Given the description of an element on the screen output the (x, y) to click on. 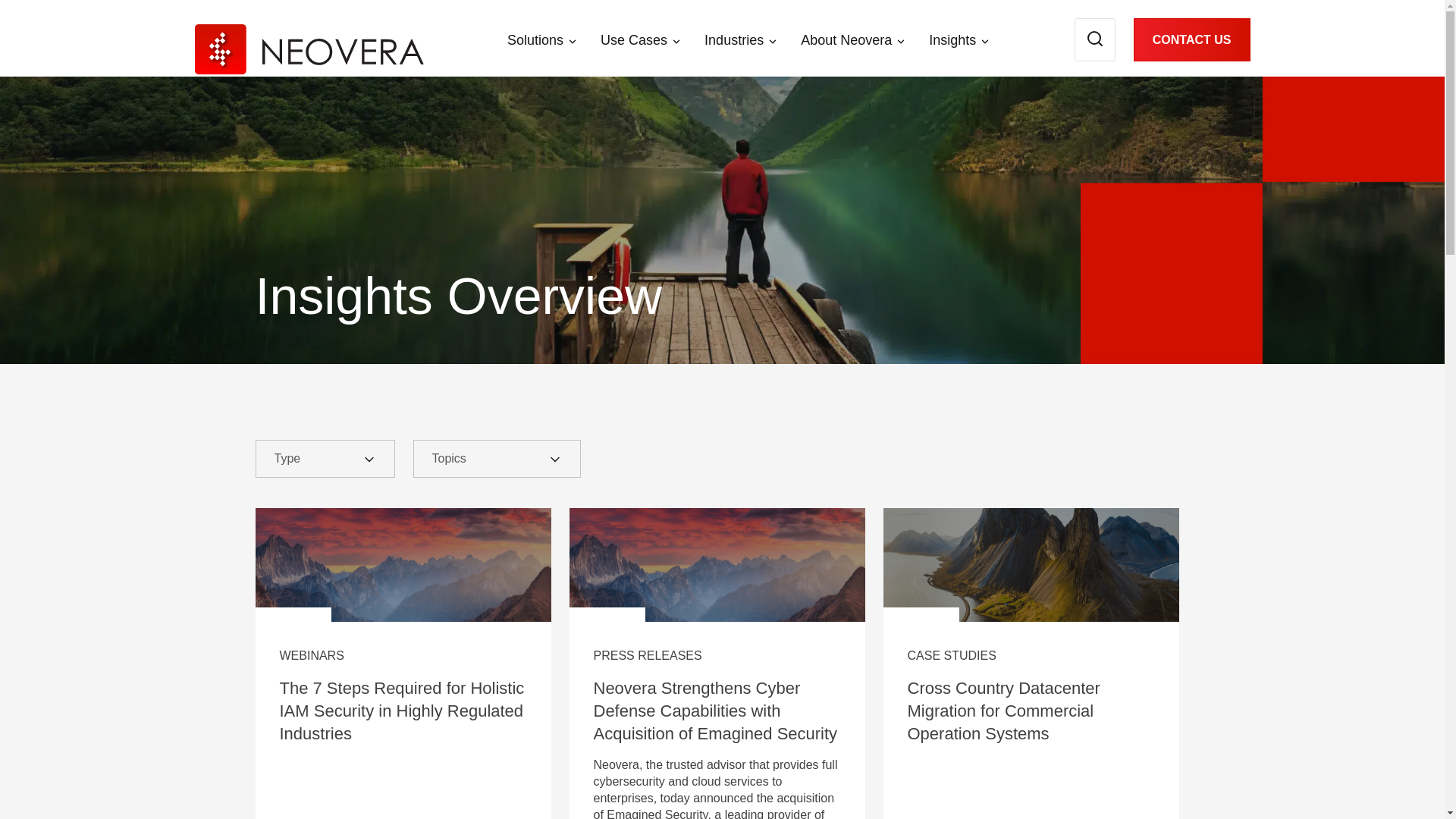
Use Cases (632, 39)
About Neovera (845, 39)
Solutions (534, 39)
Industries (733, 39)
